Given the description of an element on the screen output the (x, y) to click on. 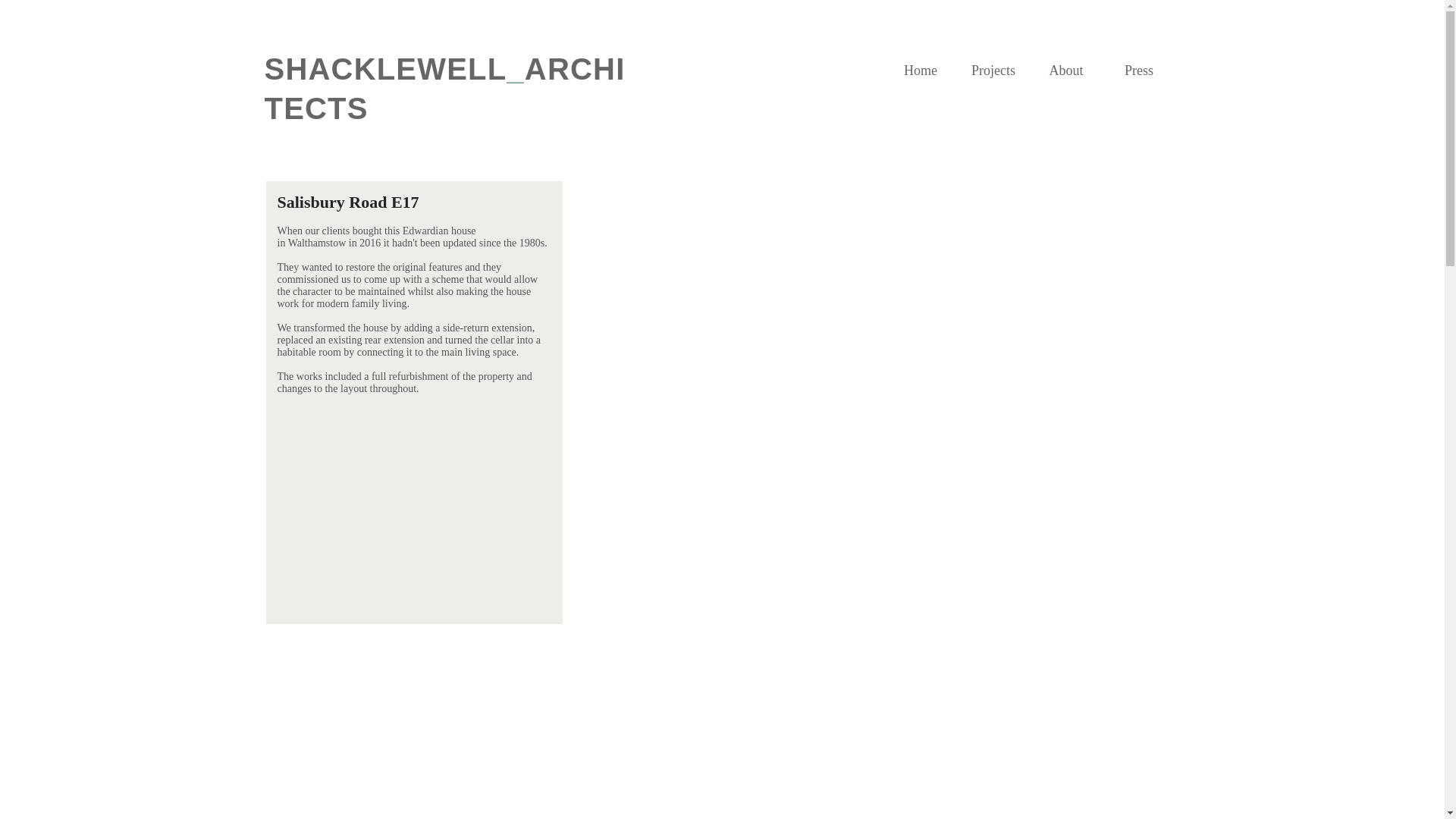
Home (919, 70)
About (1065, 70)
Projects (992, 70)
Press (1138, 70)
